Given the description of an element on the screen output the (x, y) to click on. 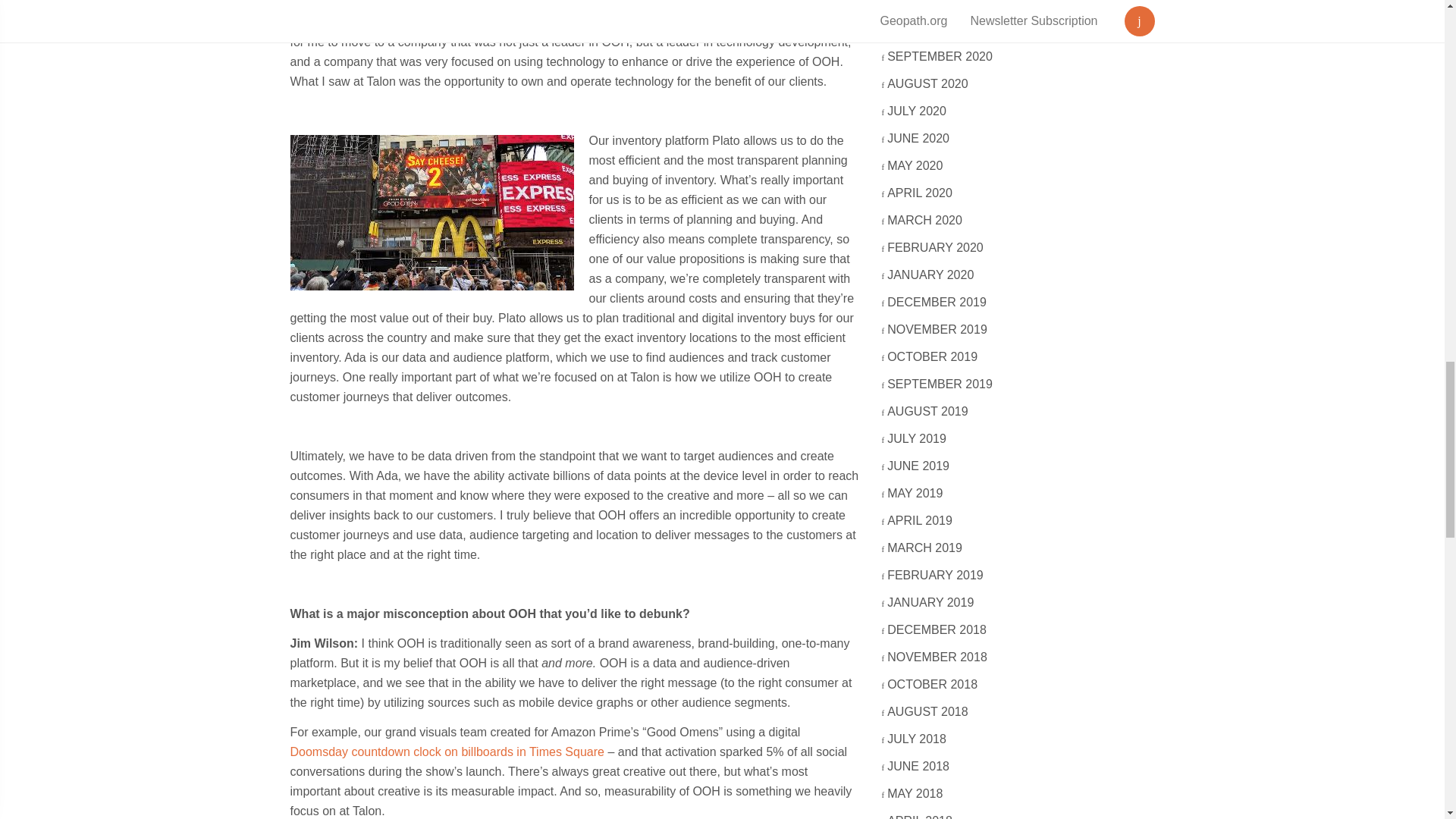
Doomsday countdown clock on billboards in Times Square (446, 751)
